Given the description of an element on the screen output the (x, y) to click on. 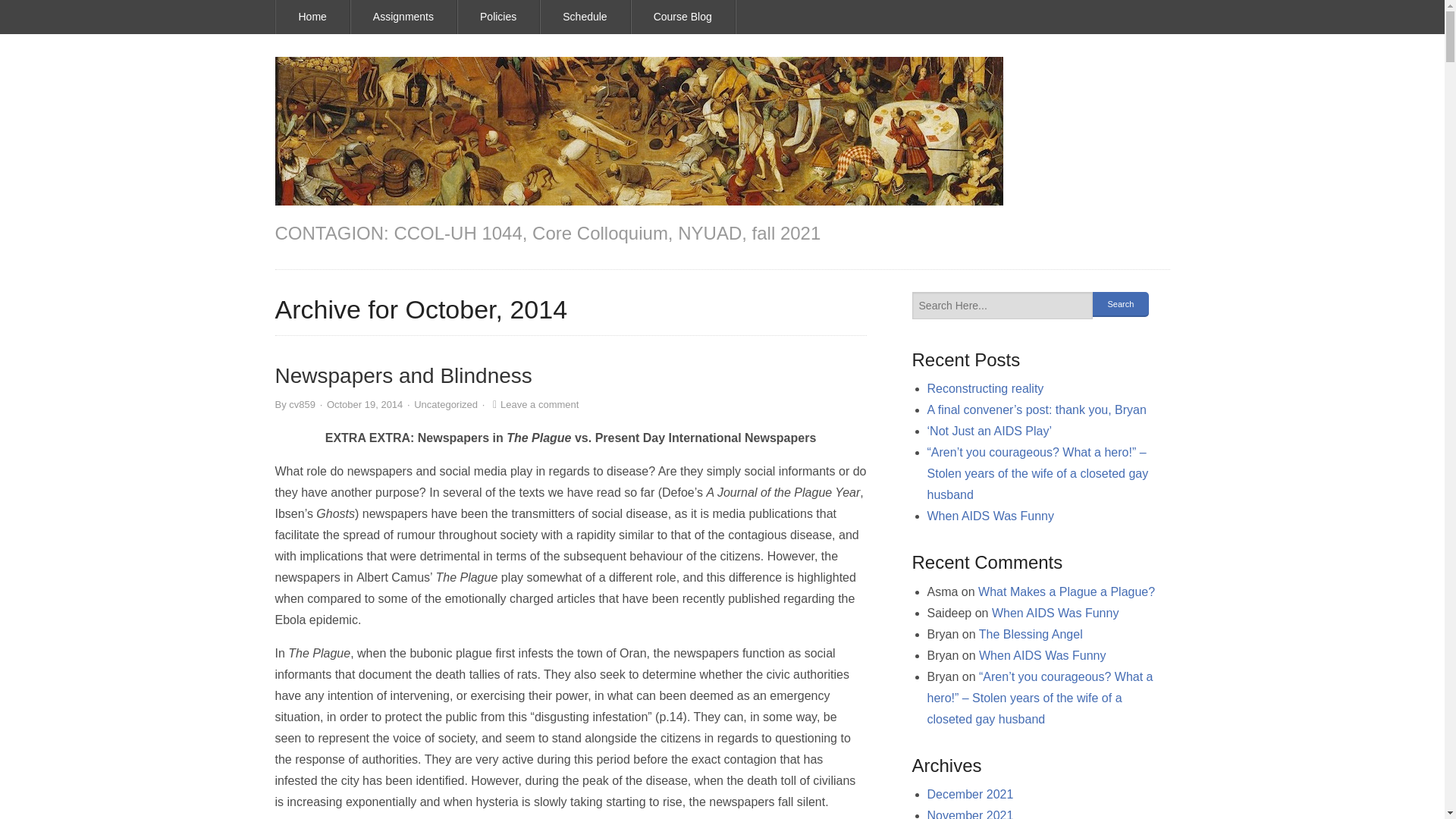
Search (1120, 303)
Schedule (585, 17)
Contagion (639, 130)
Posts by cv859 (301, 404)
cv859 (301, 404)
Course Blog (682, 17)
Search (1120, 303)
Home (313, 17)
Uncategorized (445, 404)
Permanent Link to Newspapers and Blindness (403, 375)
